Given the description of an element on the screen output the (x, y) to click on. 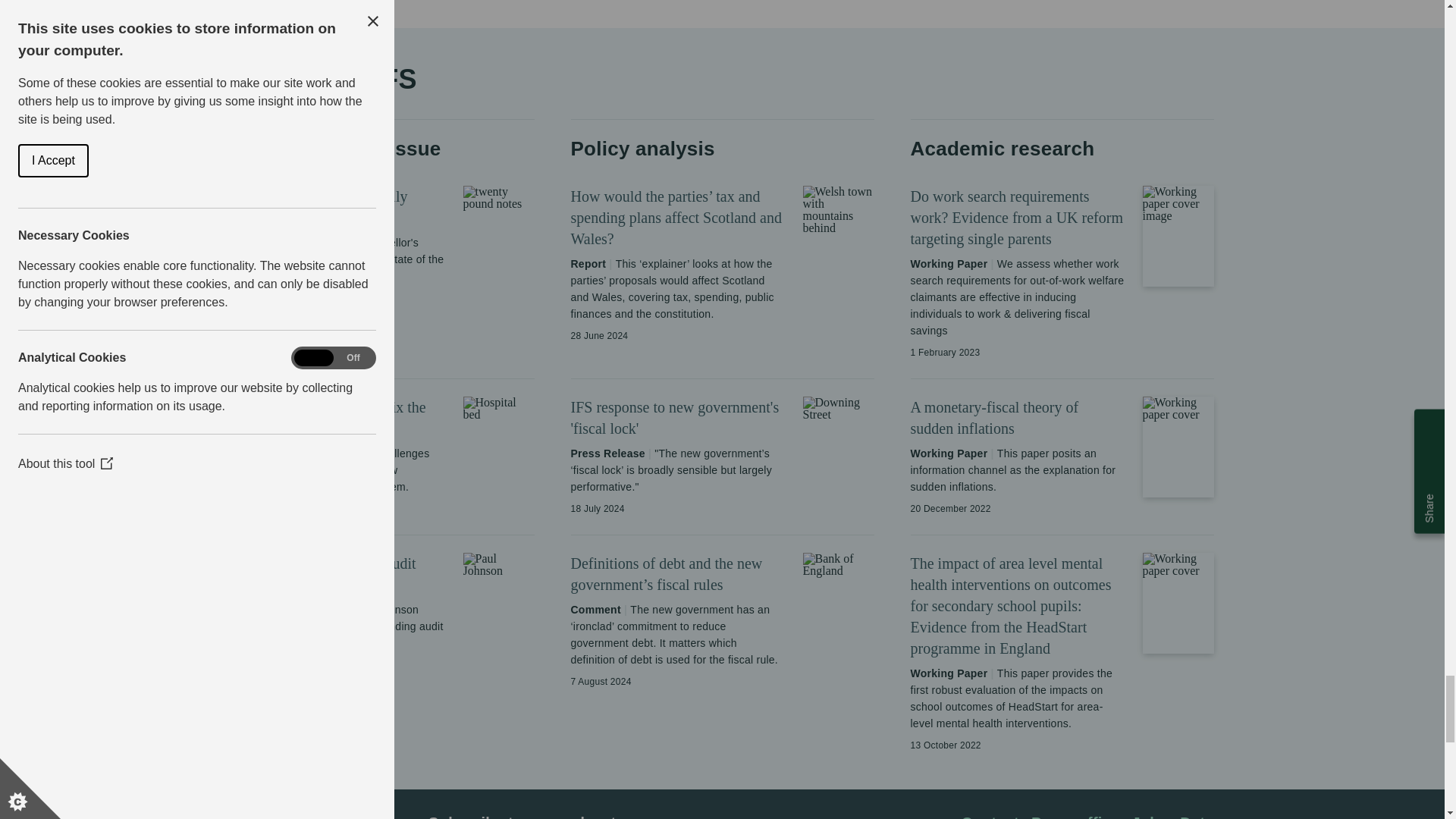
Visit the Twitter profile of IFS (359, 816)
Visit the Facebook page of IFS (329, 816)
Visit the YouTube profile of IFS (391, 817)
